Given the description of an element on the screen output the (x, y) to click on. 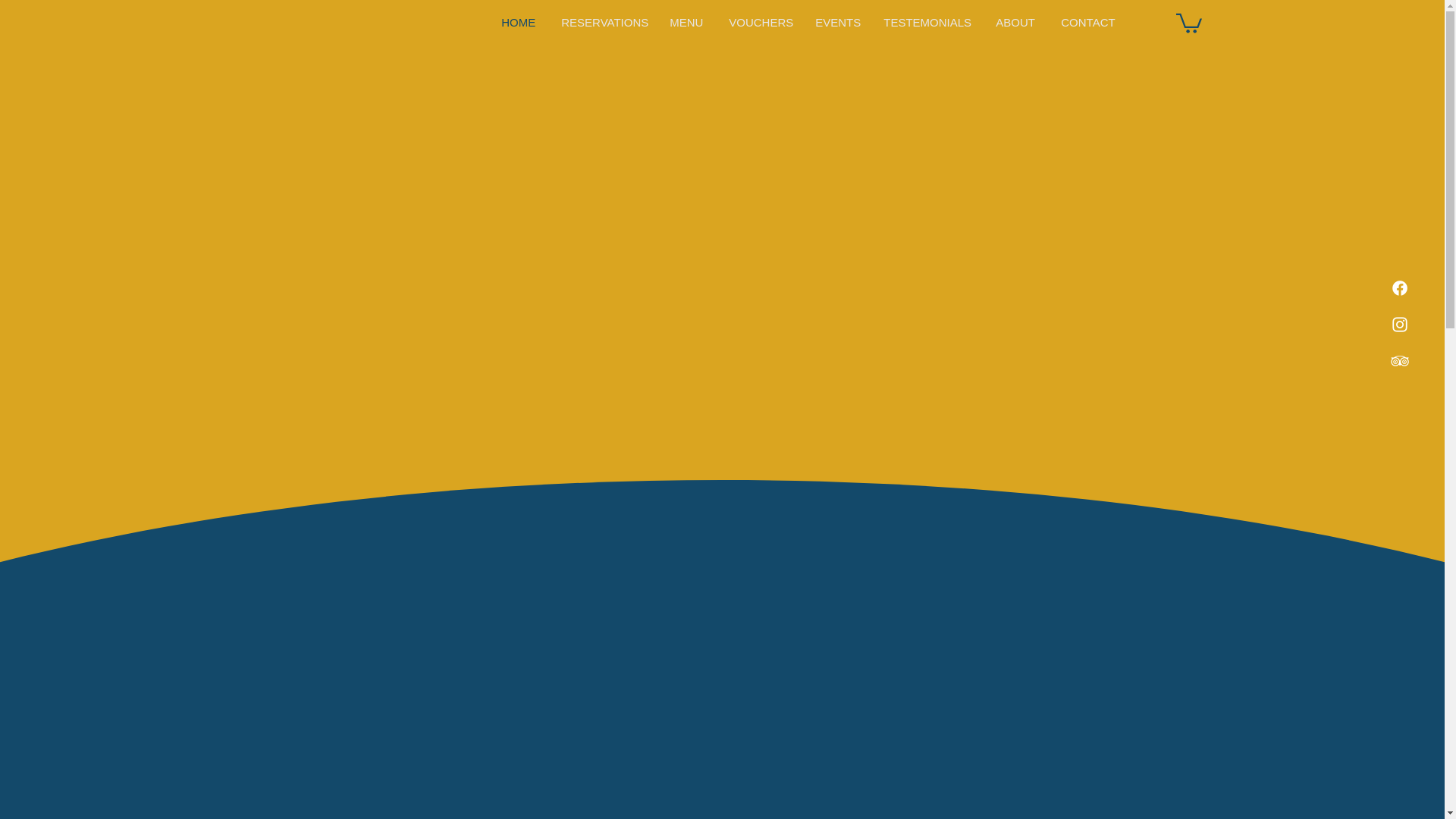
EVENTS (837, 21)
ABOUT (1016, 21)
RESERVATIONS (604, 21)
HOME (519, 21)
TESTEMONIALS (928, 21)
CONTACT (1089, 21)
MENU (687, 21)
VOUCHERS (760, 21)
